Given the description of an element on the screen output the (x, y) to click on. 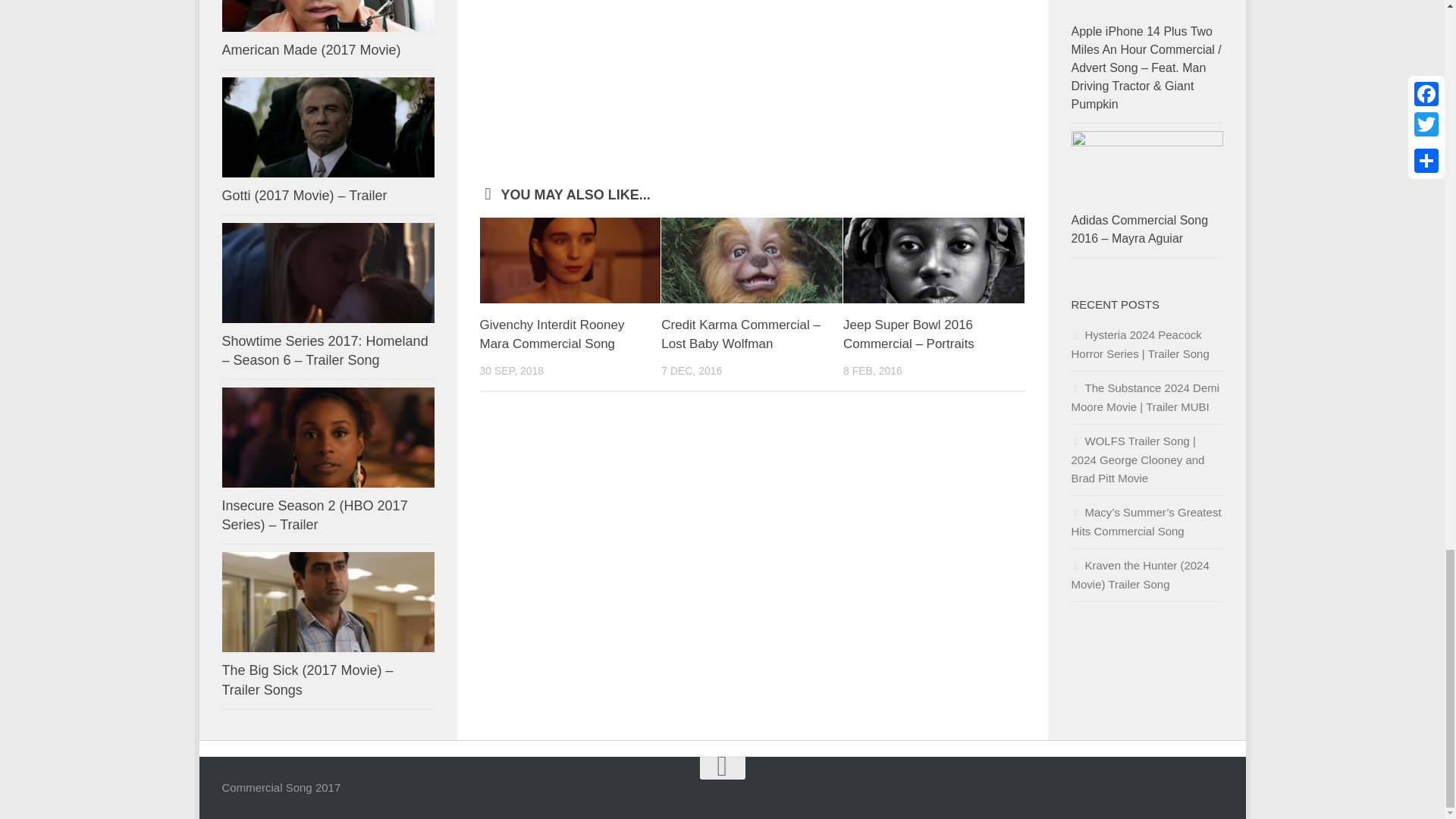
Givenchy Interdit Rooney Mara Commercial Song (551, 334)
Givenchy Interdit Rooney Mara Commercial Song (551, 334)
Givenchy Interdit Rooney Mara Commercial Song (570, 259)
